Given the description of an element on the screen output the (x, y) to click on. 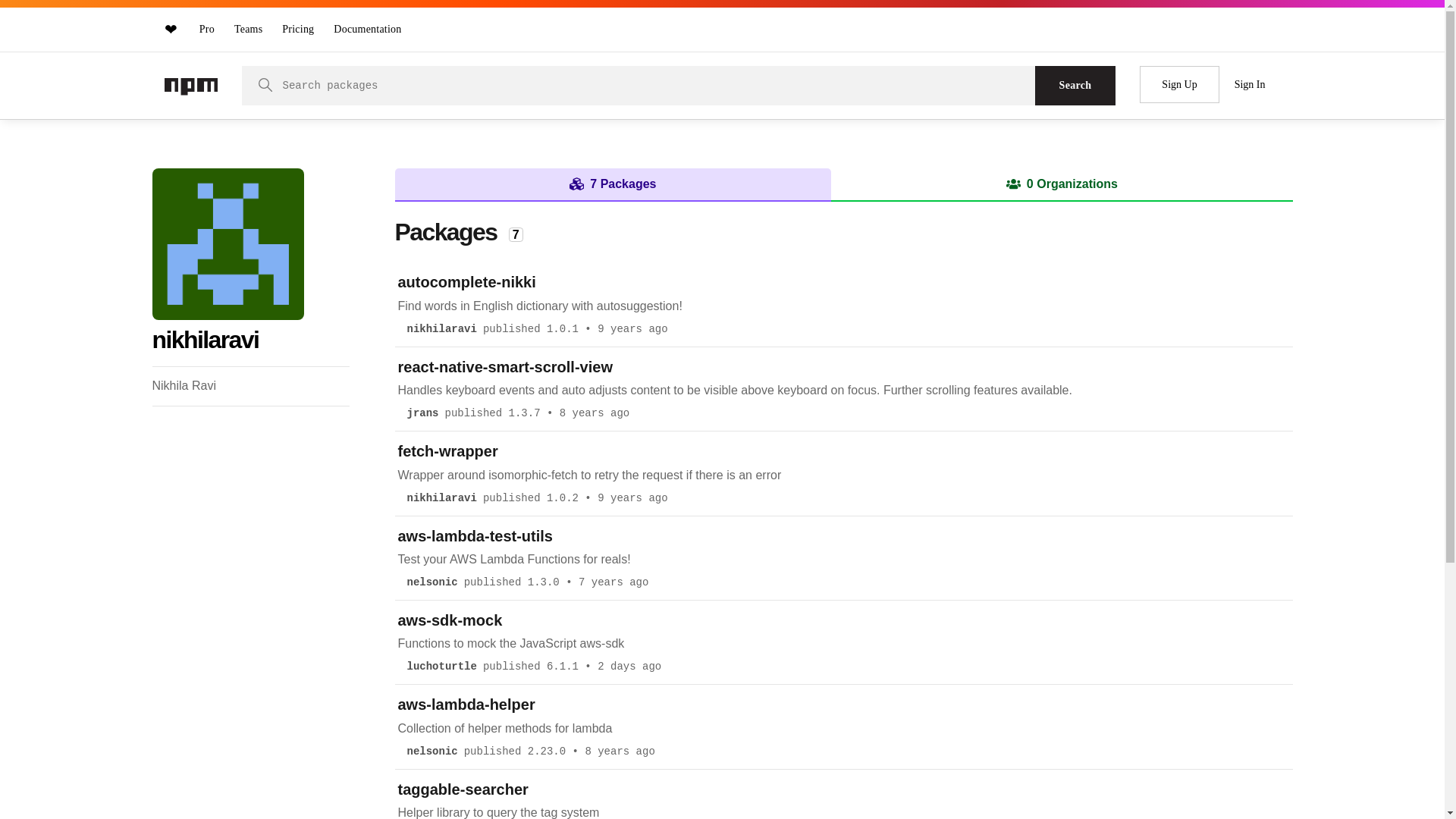
Documentation (367, 29)
fetch-wrapper (447, 451)
Pricing (298, 29)
Sign Up (1179, 84)
Packages 7 (458, 231)
aws-lambda-helper (465, 704)
nikhilaravi (440, 498)
aws-lambda-test-utils (474, 536)
aws-sdk-mock (449, 620)
nelsonic (431, 751)
nelsonic (431, 582)
autocomplete-nikki (466, 282)
7 Packages (612, 183)
nikhilaravi (440, 329)
luchoturtle (440, 666)
